Given the description of an element on the screen output the (x, y) to click on. 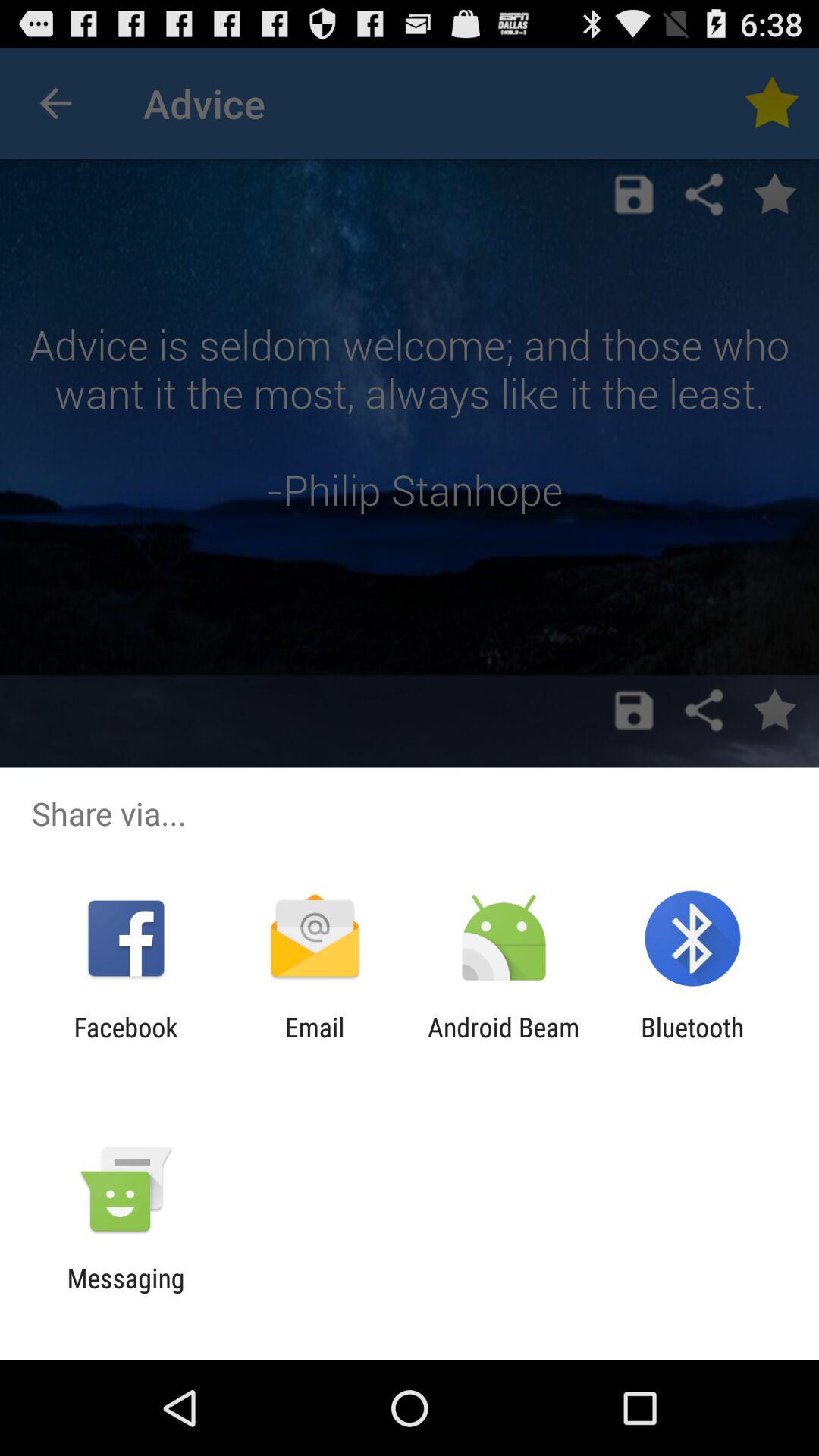
click app to the right of email icon (503, 1042)
